Given the description of an element on the screen output the (x, y) to click on. 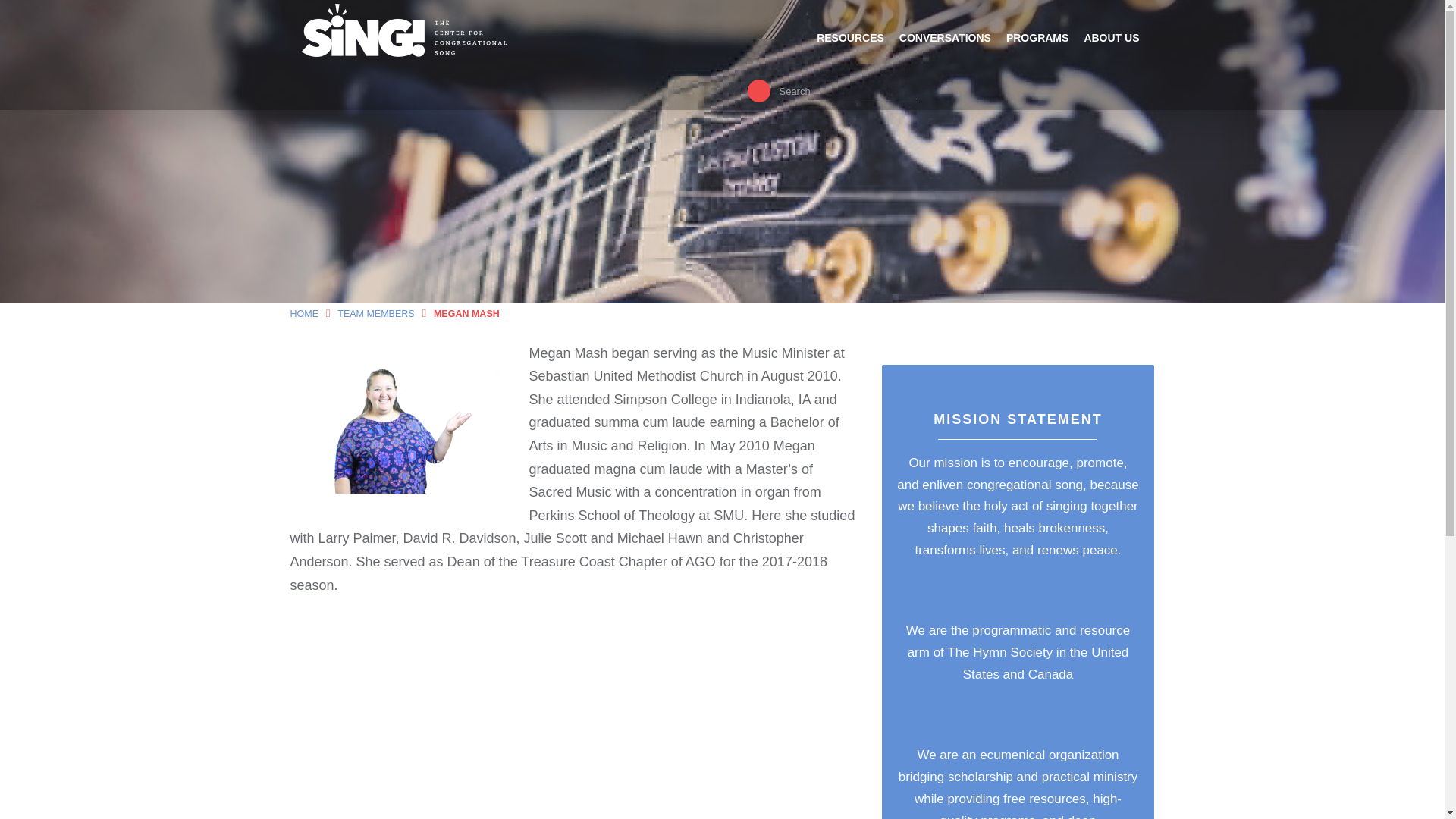
CONVERSATIONS (952, 41)
ABOUT US (1118, 41)
Programs (1044, 41)
PROGRAMS (1044, 41)
Conversations (952, 41)
TEAM MEMBERS (375, 313)
RESOURCES (857, 41)
HOME (303, 313)
Resources (857, 41)
